Given the description of an element on the screen output the (x, y) to click on. 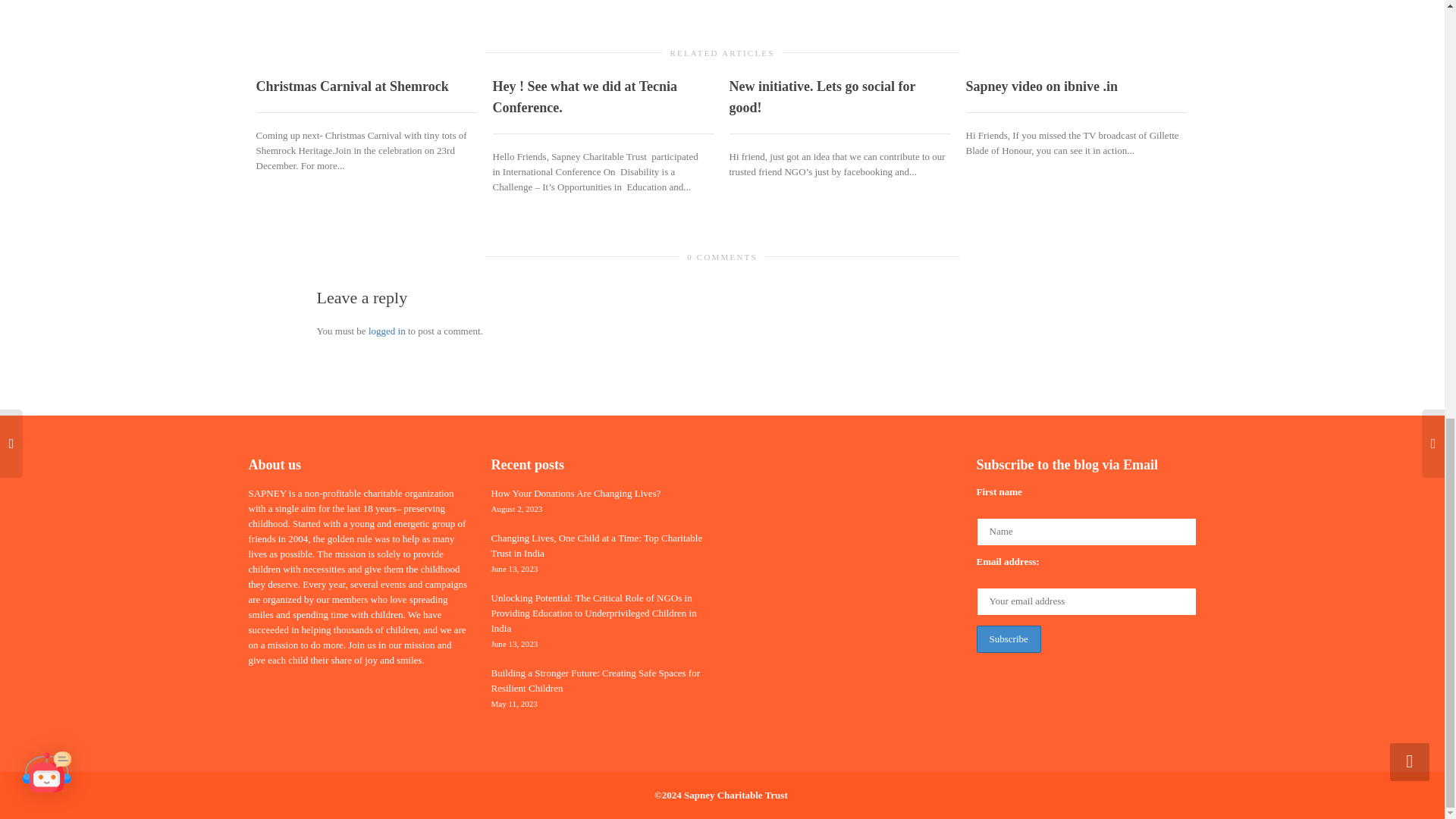
Christmas Carnival at Shemrock (352, 86)
Subscribe (1008, 638)
